Given the description of an element on the screen output the (x, y) to click on. 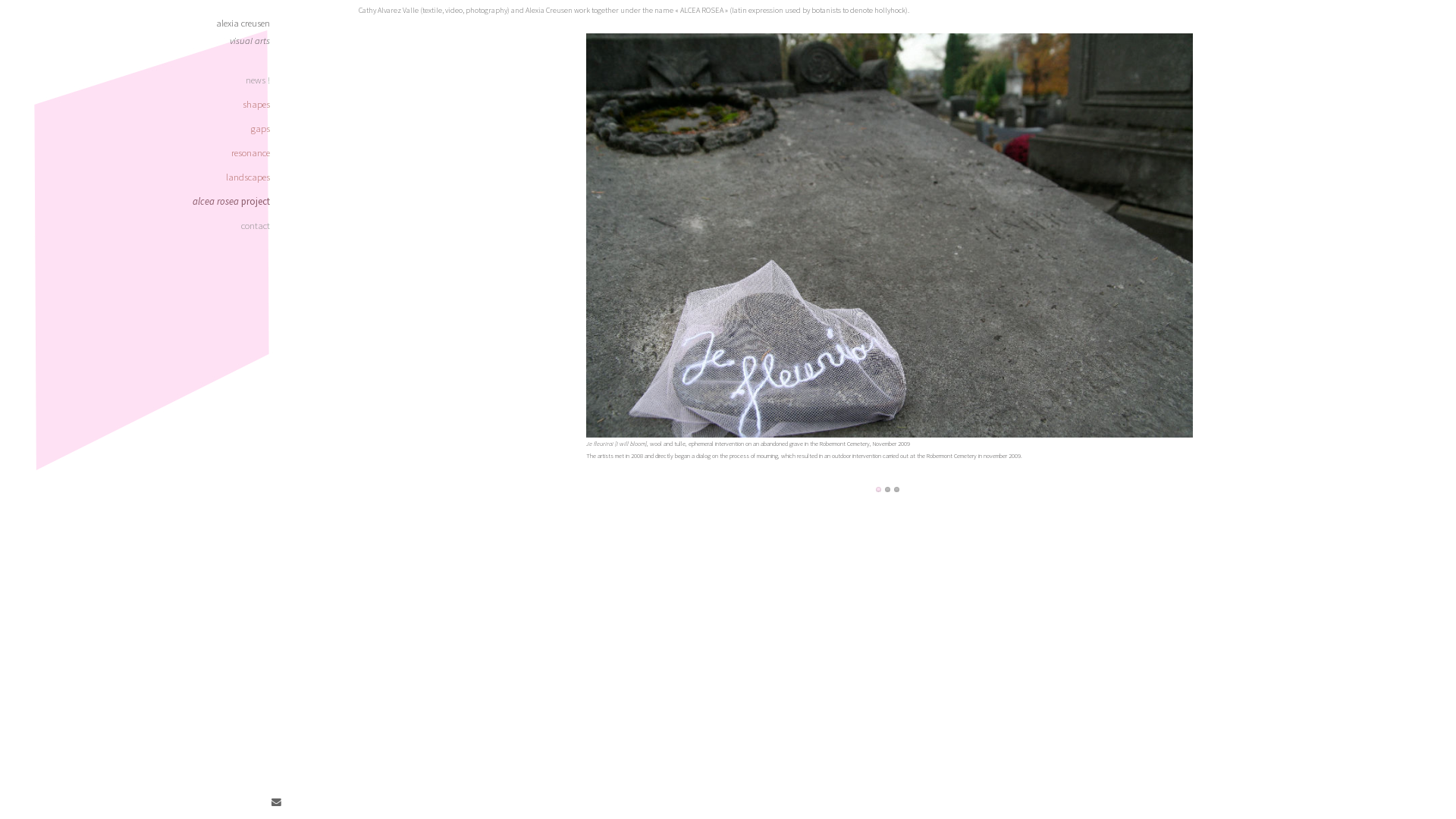
news ! Element type: text (142, 80)
contact Element type: text (142, 225)
2 Element type: text (886, 489)
gaps Element type: text (142, 128)
1 Element type: text (877, 489)
3 Element type: text (895, 489)
resonance Element type: text (142, 152)
alcea rosea project Element type: text (142, 200)
shapes Element type: text (142, 104)
landscapes Element type: text (142, 176)
